Given the description of an element on the screen output the (x, y) to click on. 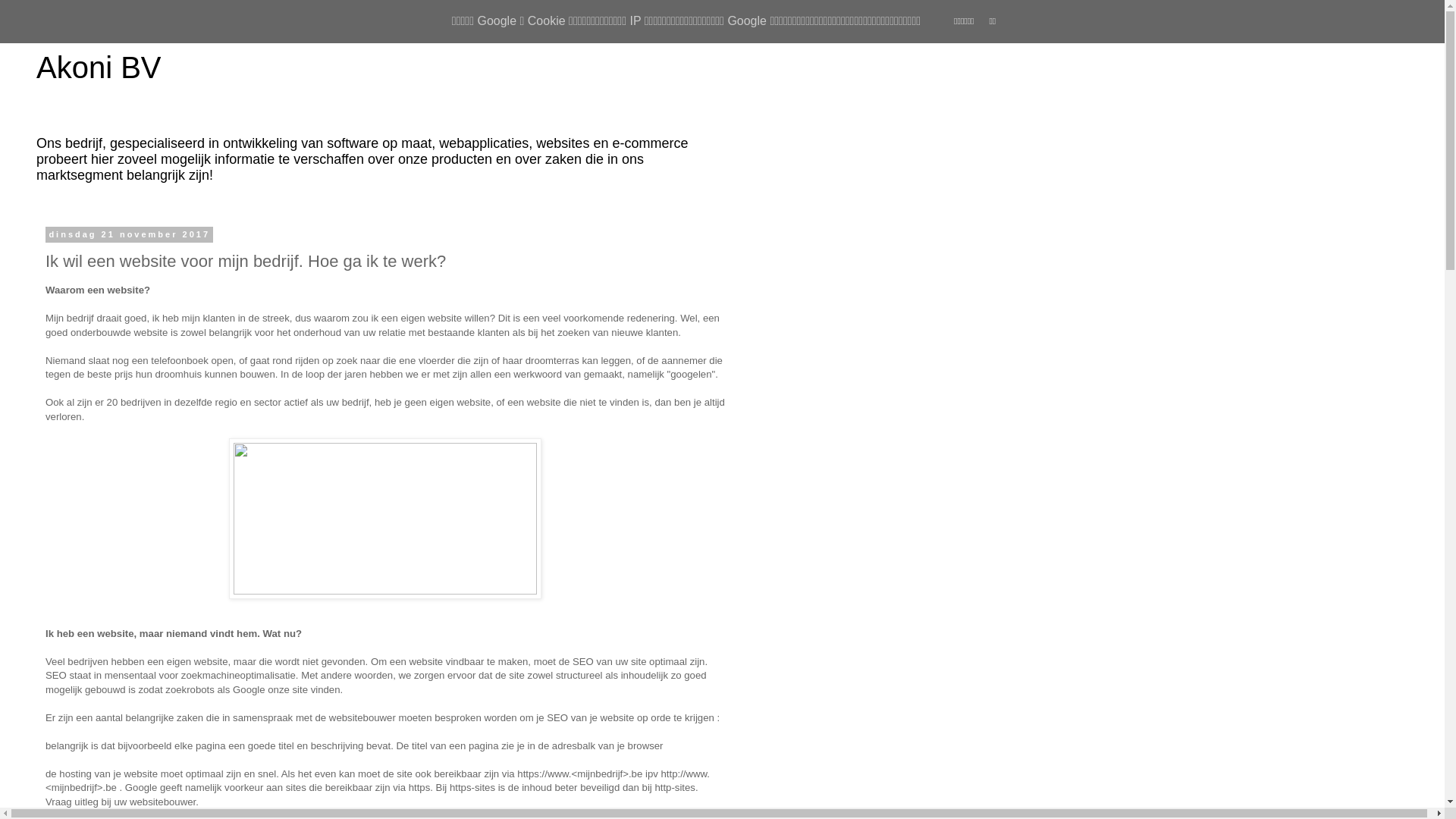
Akoni BV Element type: text (98, 67)
